Given the description of an element on the screen output the (x, y) to click on. 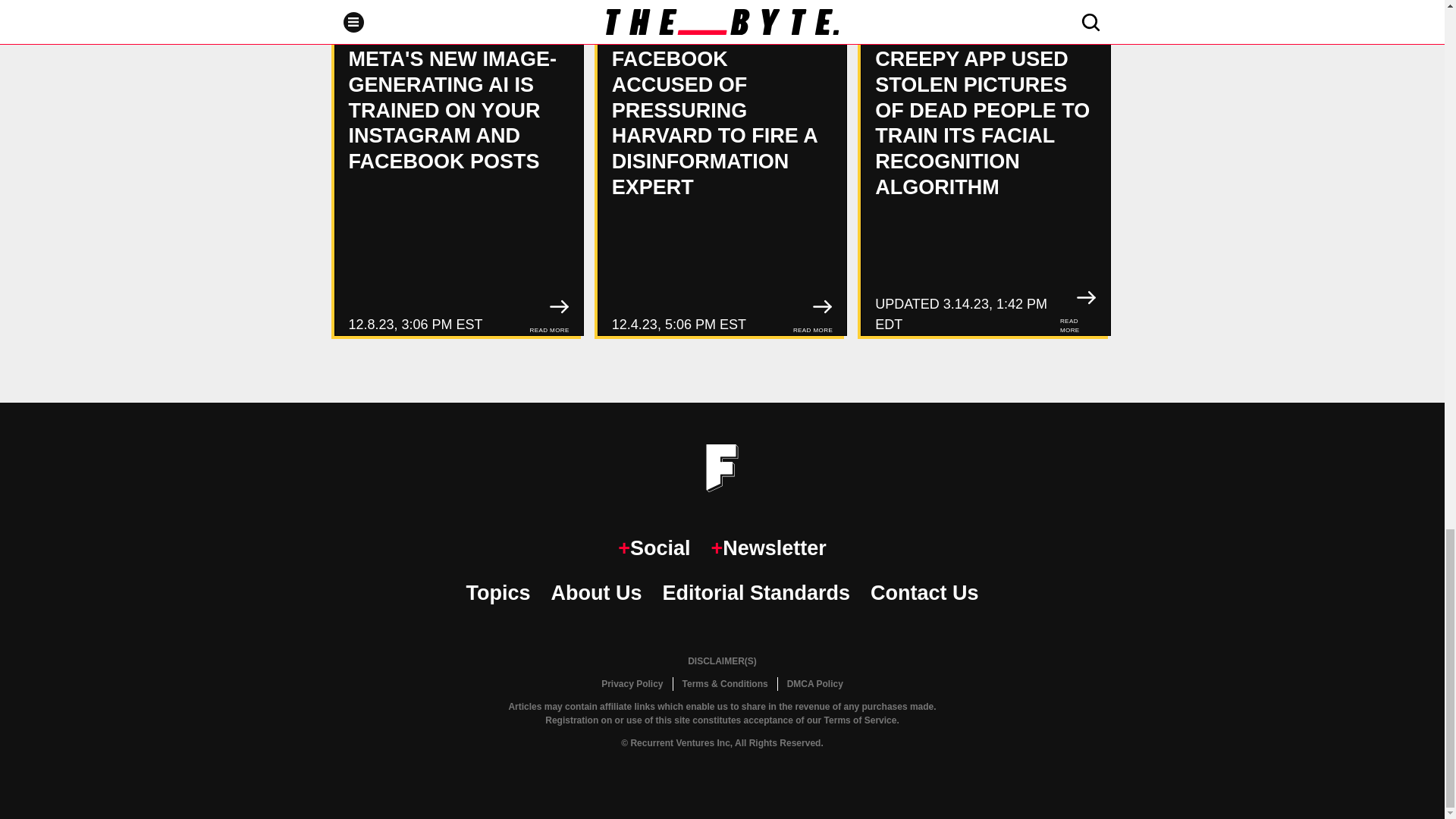
Contact Us (924, 593)
DMCA Policy (814, 684)
Topics (497, 593)
Privacy Policy (631, 684)
About Us (596, 593)
Editorial Standards (756, 593)
